Given the description of an element on the screen output the (x, y) to click on. 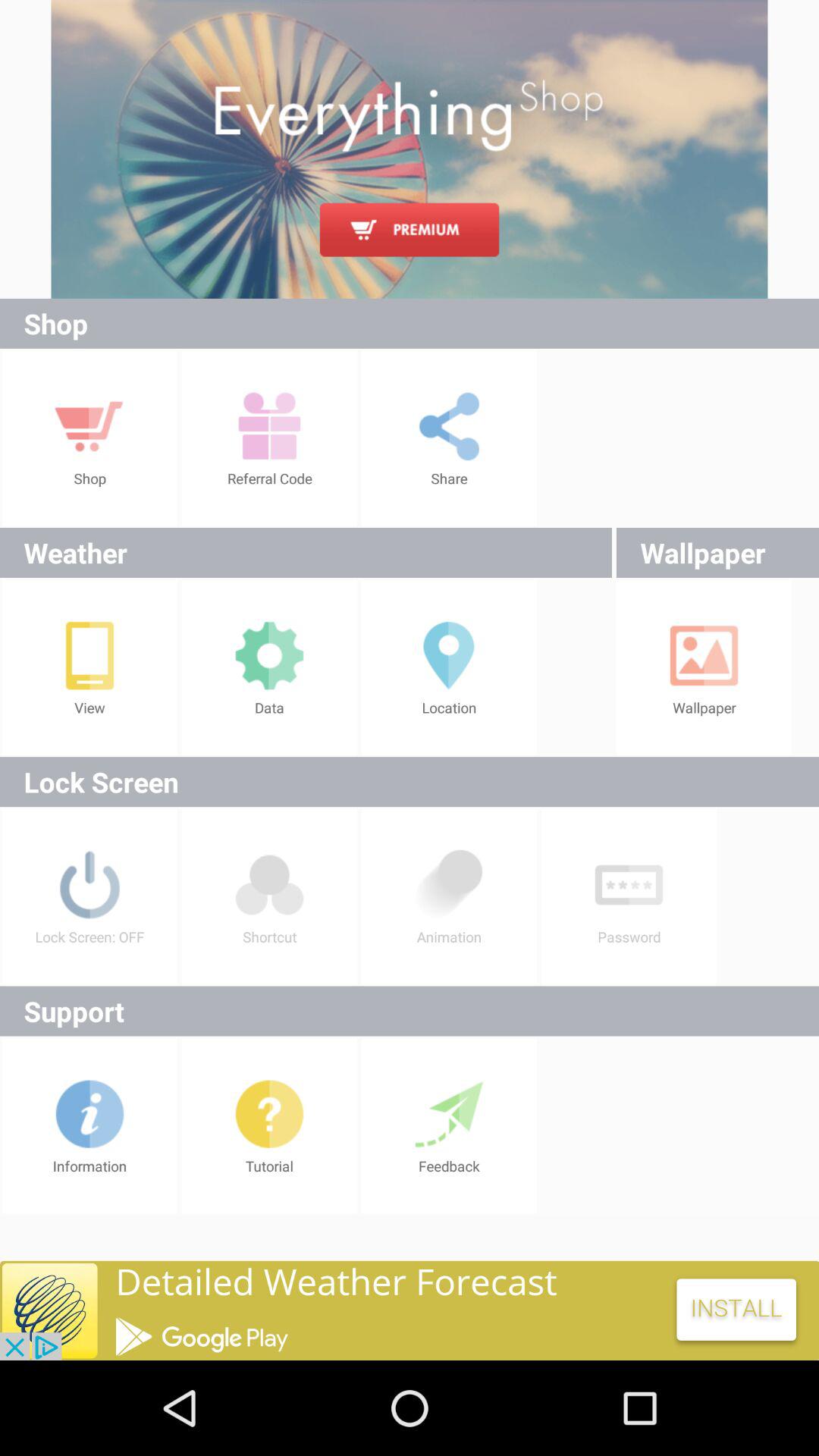
go to add (409, 149)
